Given the description of an element on the screen output the (x, y) to click on. 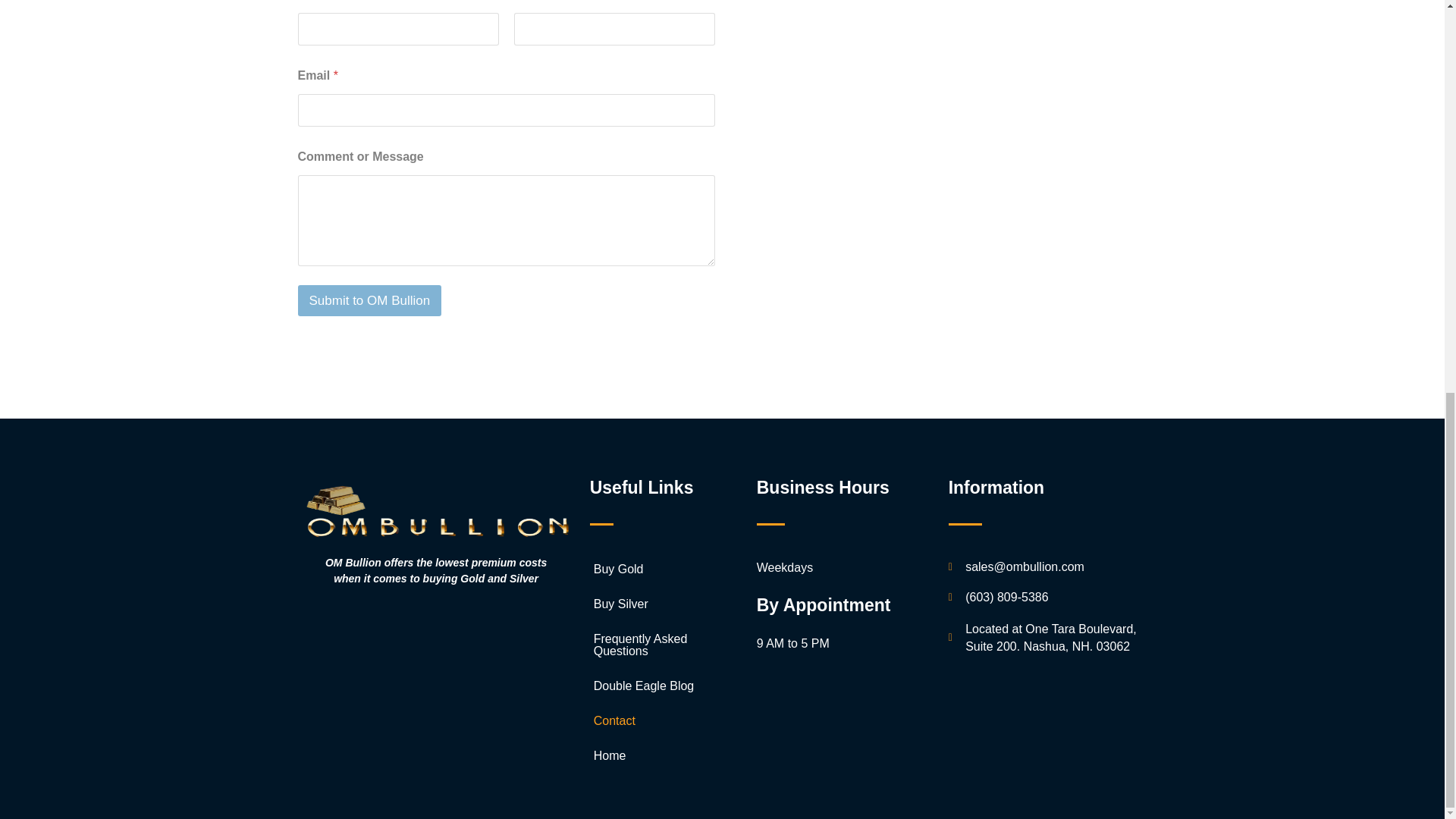
Double Eagle Blog (656, 686)
One tara boulevard, nashua (938, 141)
Buy Silver (656, 604)
Contact (656, 720)
Submit to OM Bullion (369, 300)
Frequently Asked Questions (656, 645)
Buy Gold (656, 569)
Home (656, 755)
